Given the description of an element on the screen output the (x, y) to click on. 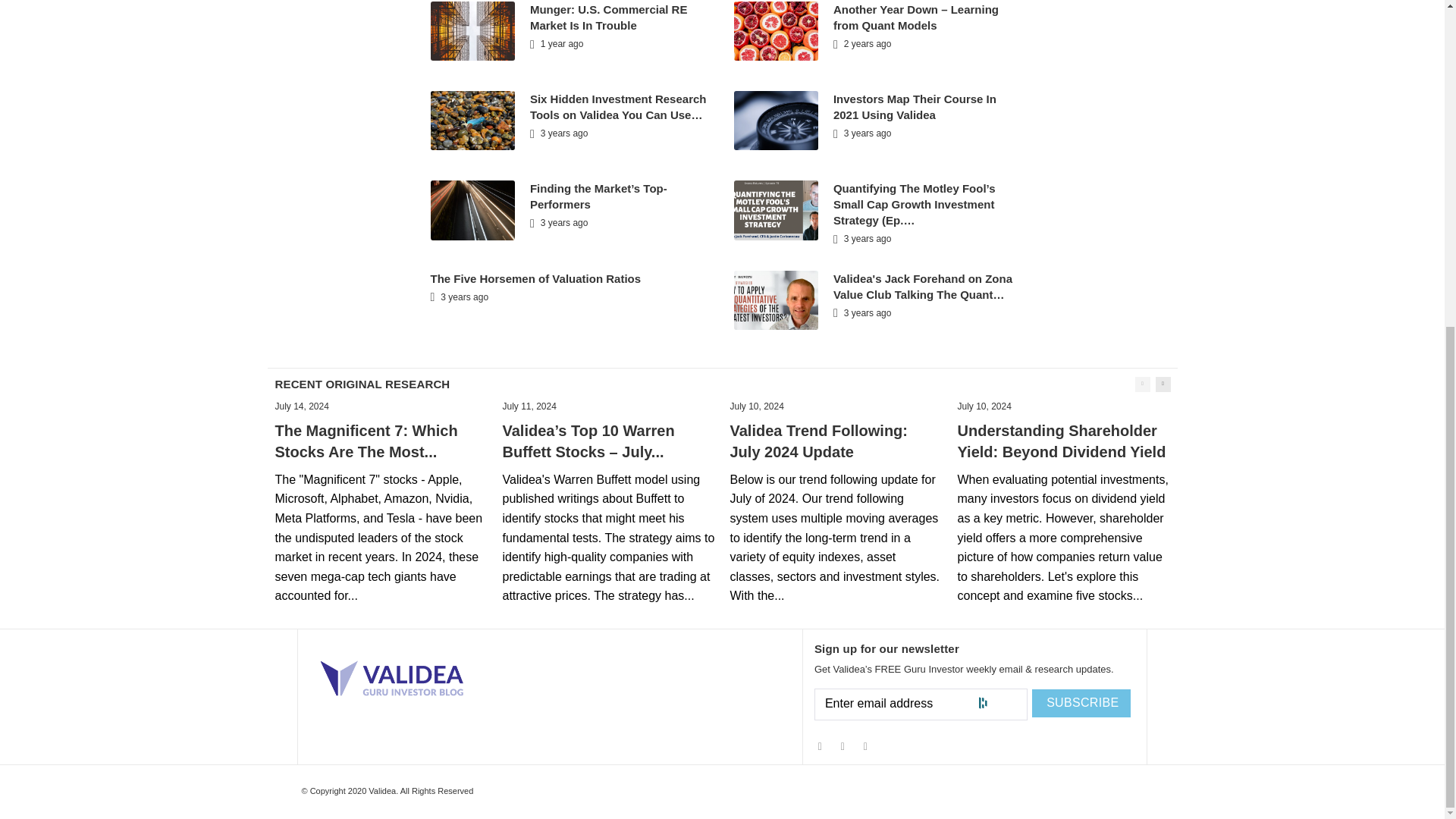
Investors Map Their Course In 2021 Using Validea (913, 106)
Munger: U.S. Commercial RE Market Is In Trouble (608, 17)
Munger: U.S. Commercial RE Market Is In Trouble (608, 17)
2024-07-10T09:19:35-04:00 (756, 406)
The Five Horsemen of Valuation Ratios (536, 278)
3 years ago (861, 132)
3 years ago (558, 222)
2 years ago (861, 43)
1 year ago (556, 43)
3 years ago (558, 132)
Investors Map Their Course In 2021 Using Validea (913, 106)
2024-07-10T09:04:47-04:00 (983, 406)
2024-07-14T18:24:16-04:00 (302, 406)
